Given the description of an element on the screen output the (x, y) to click on. 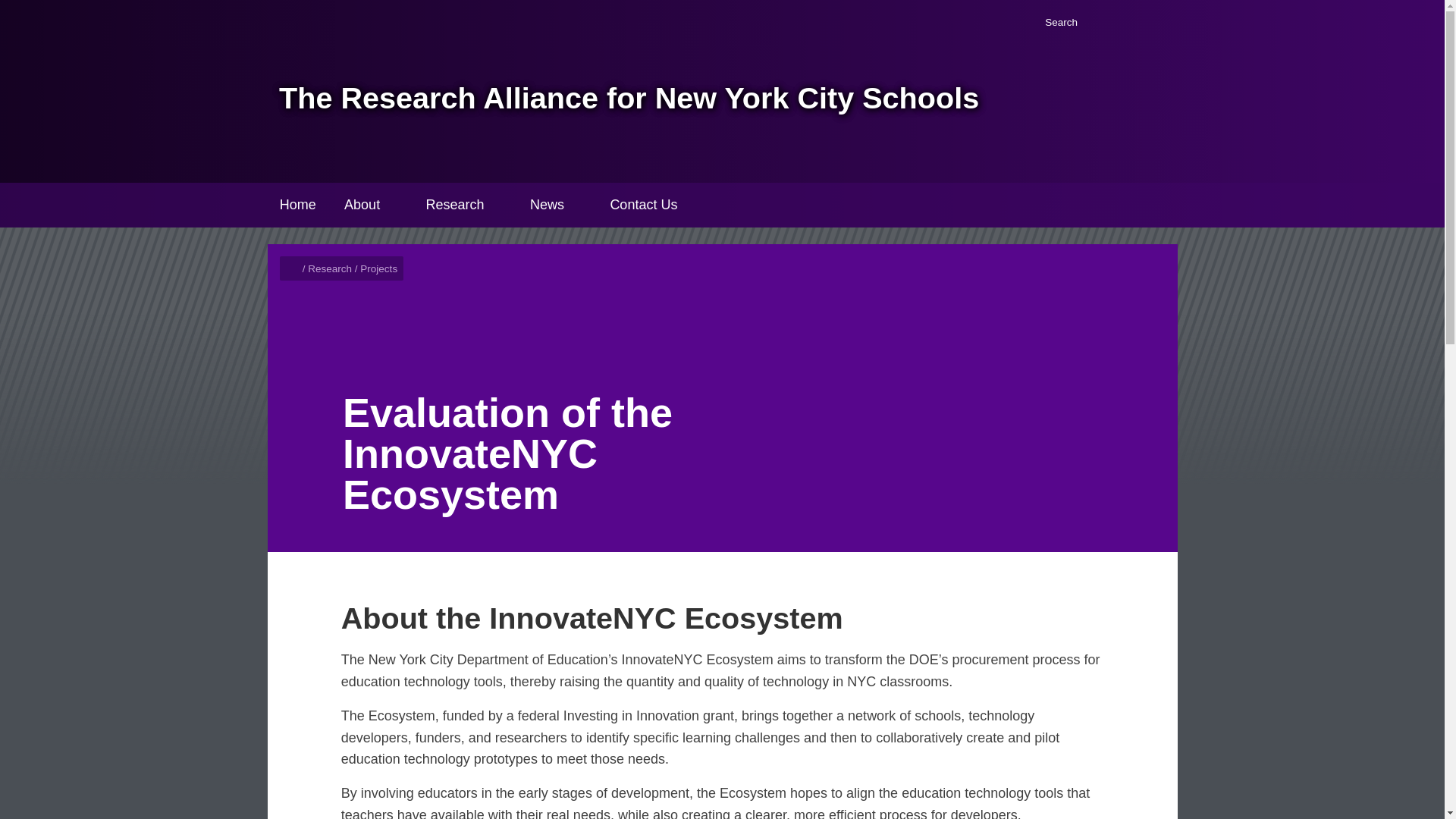
News (547, 204)
Search (1051, 22)
Research (454, 204)
Contact Us (642, 204)
Home (292, 268)
About (361, 204)
Skip to main content (5, 6)
Home (296, 204)
